Given the description of an element on the screen output the (x, y) to click on. 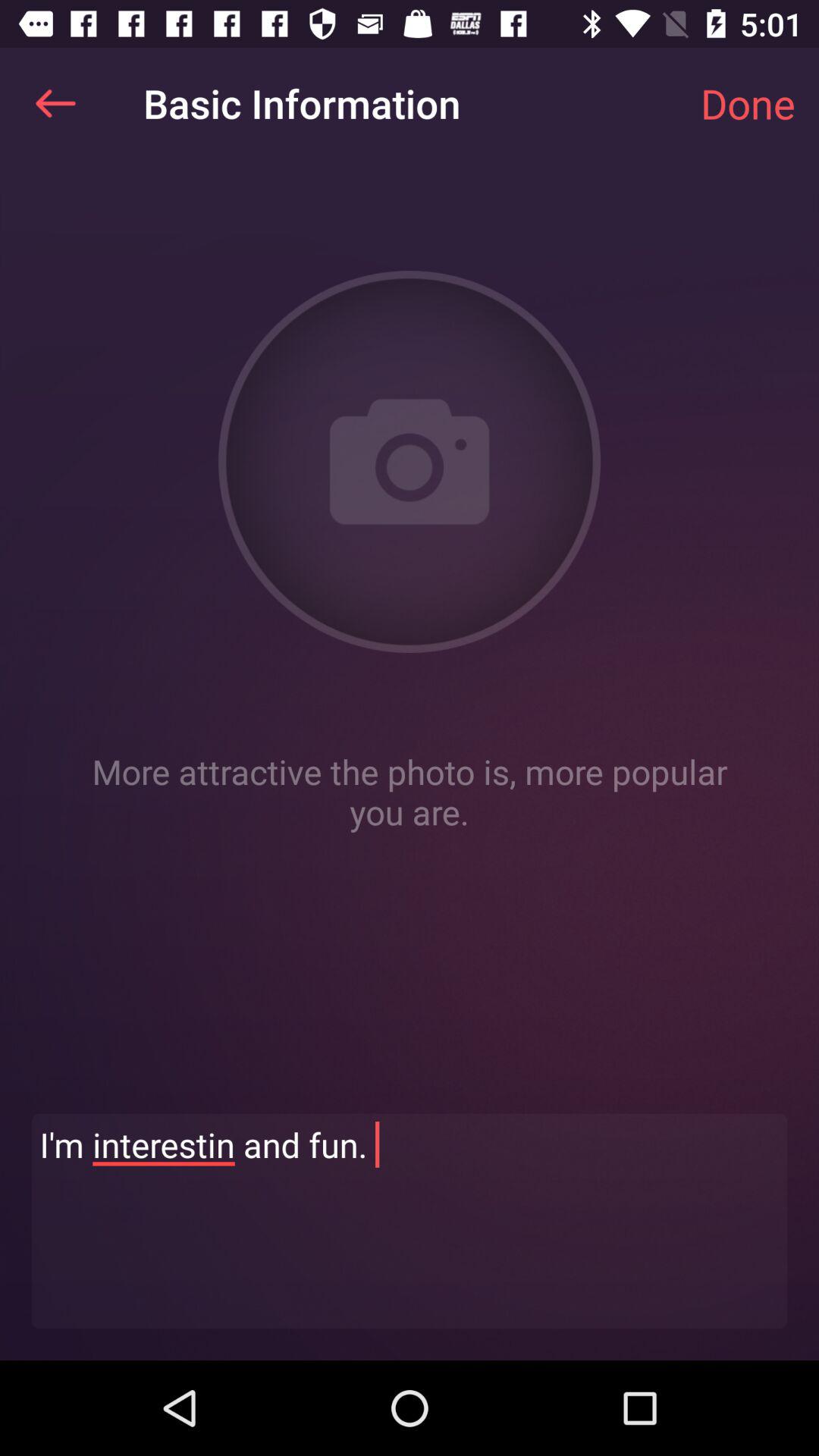
tap done (747, 103)
